Given the description of an element on the screen output the (x, y) to click on. 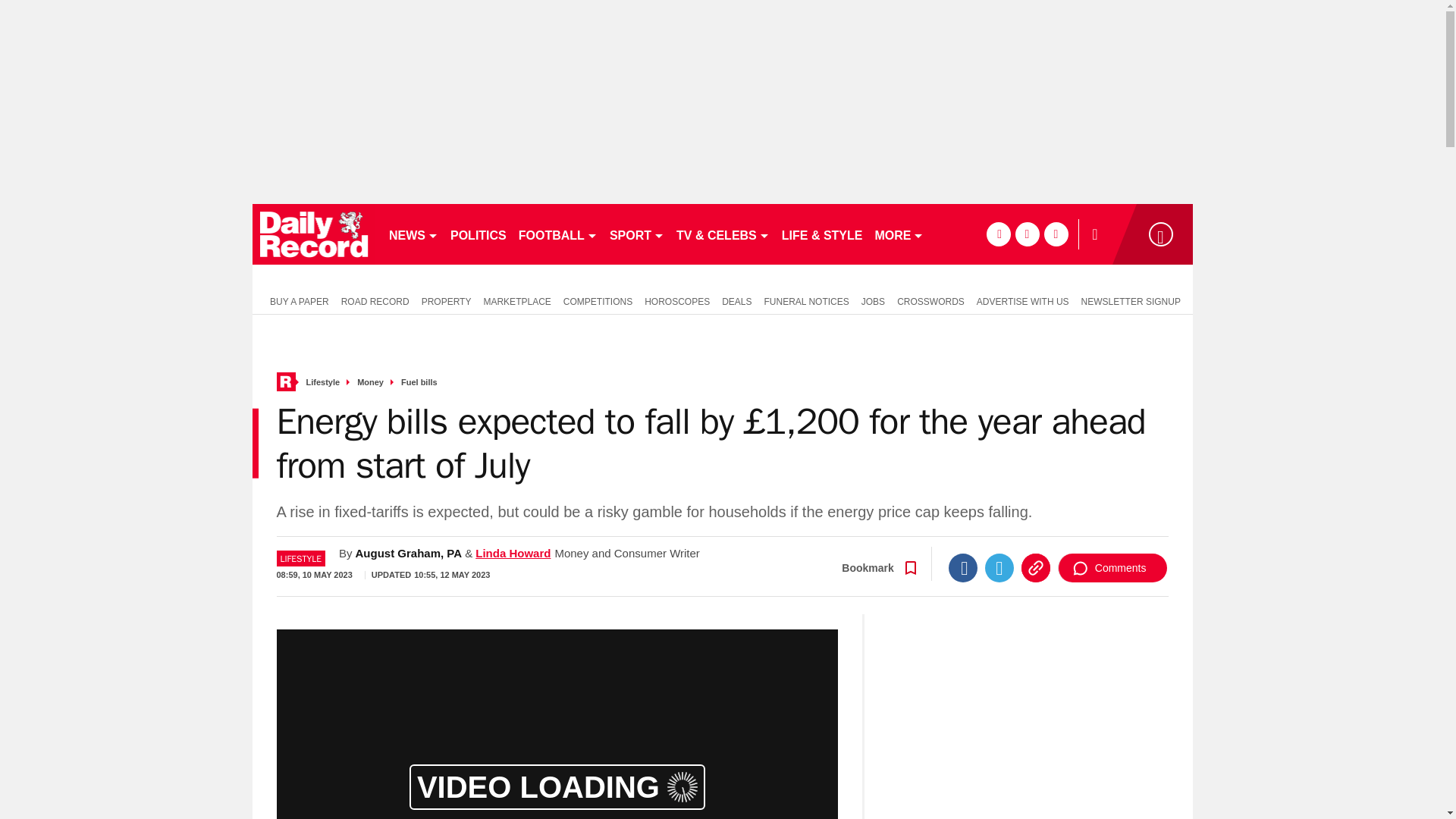
twitter (1026, 233)
instagram (1055, 233)
Twitter (999, 567)
NEWS (413, 233)
dailyrecord (313, 233)
POLITICS (478, 233)
Facebook (962, 567)
SPORT (636, 233)
Comments (1112, 567)
facebook (997, 233)
